Given the description of an element on the screen output the (x, y) to click on. 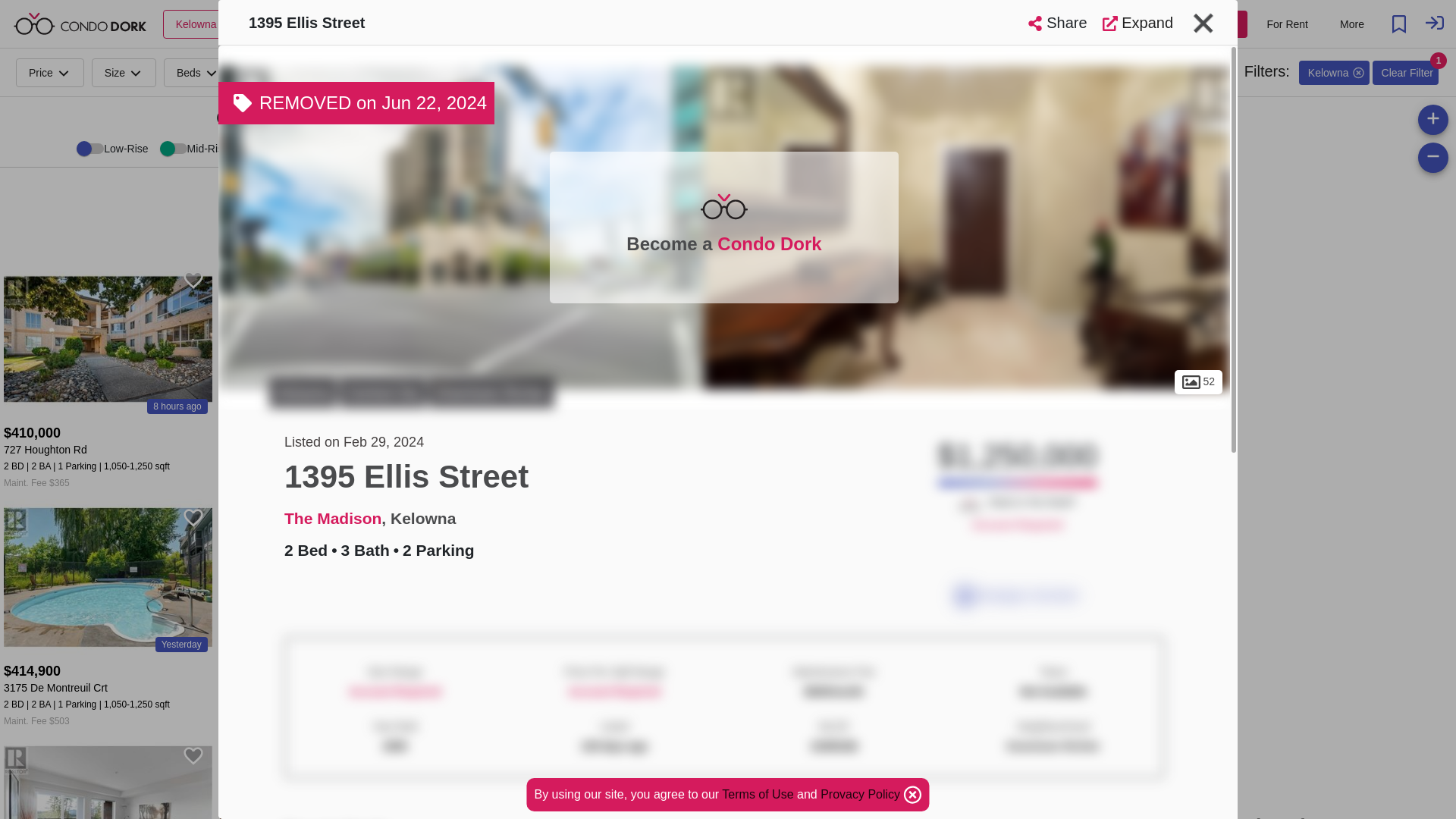
More (1351, 23)
Size (123, 71)
More (349, 71)
Buildings (379, 196)
Kelowna (206, 23)
For Sale (1214, 23)
Baths (275, 71)
Get Alerts (435, 71)
365 Listings (274, 196)
Condodork Logo (79, 23)
Beds (197, 71)
